Given the description of an element on the screen output the (x, y) to click on. 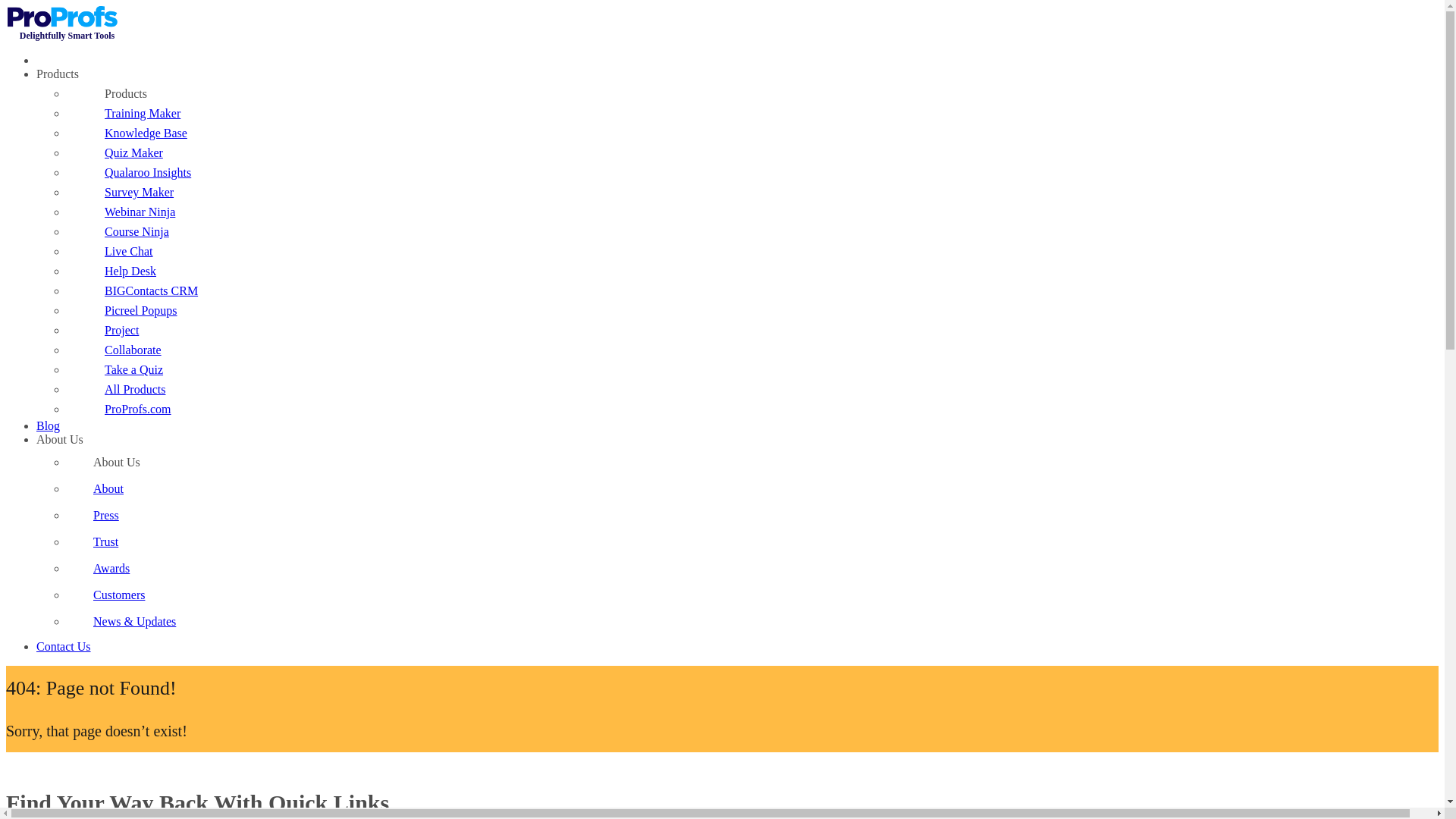
Knowledge Base (752, 131)
ProProfs Training Maker (752, 112)
BIGContacts CRM (752, 289)
Over 1 Million Free Quizzes to Choose From (752, 368)
Webinar Ninja (752, 210)
About (752, 488)
Awards (752, 567)
All Products (752, 388)
Products (57, 73)
Course Ninja (752, 230)
ProProfs Collaborate (752, 348)
Awards (752, 567)
ProProfs Project (752, 329)
